Given the description of an element on the screen output the (x, y) to click on. 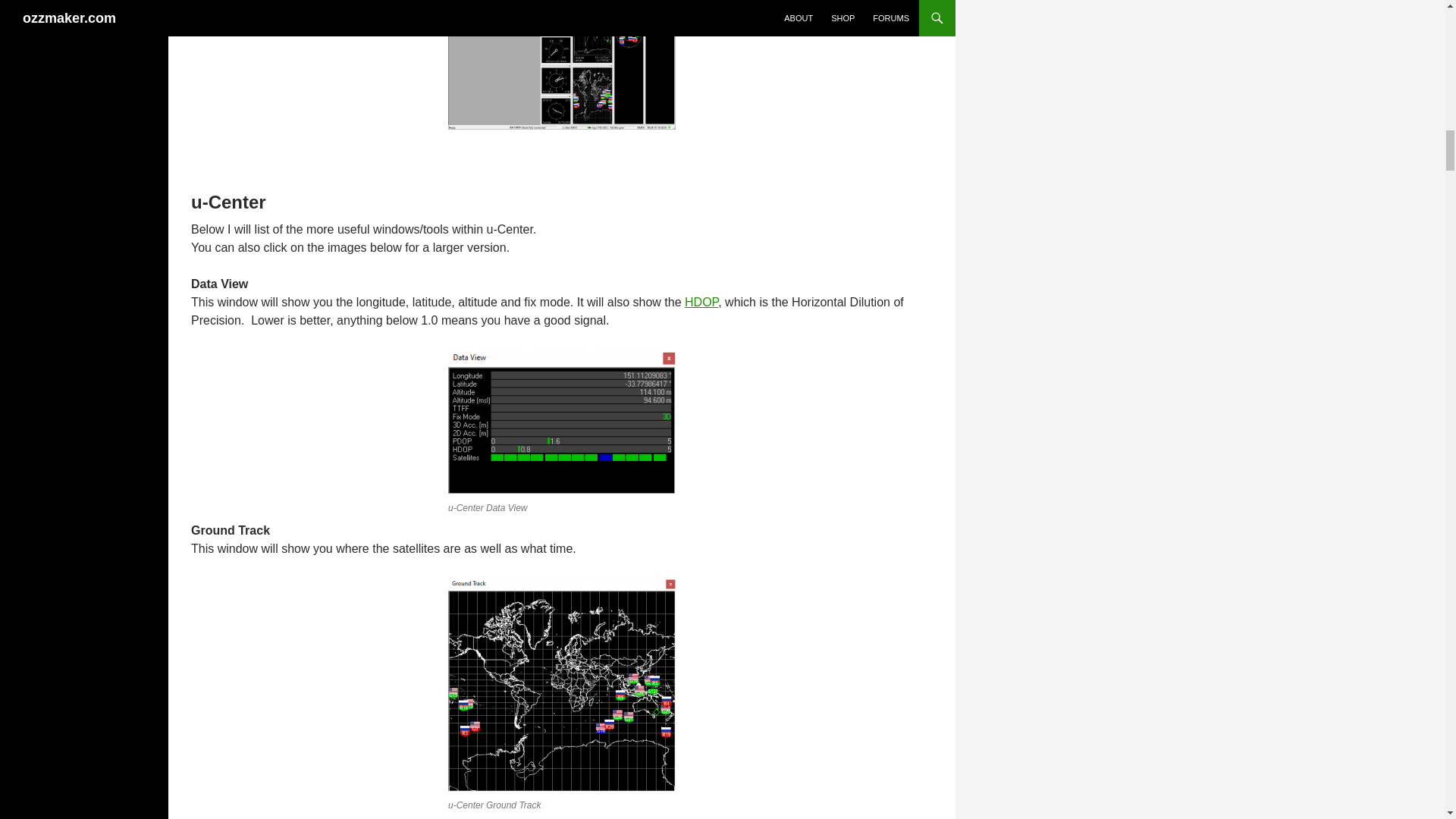
HDOP (700, 301)
